Given the description of an element on the screen output the (x, y) to click on. 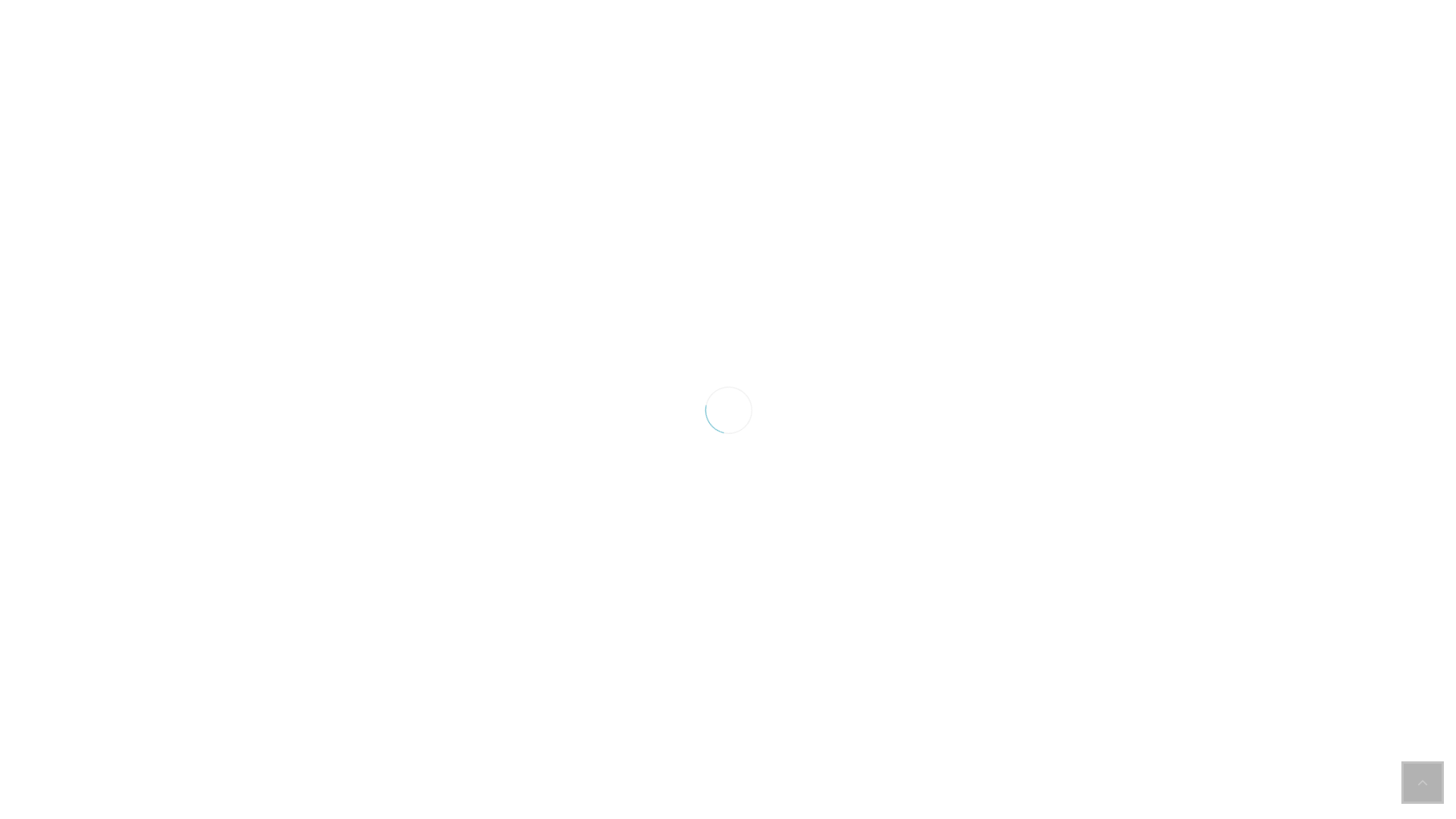
HOME Element type: text (225, 289)
